Given the description of an element on the screen output the (x, y) to click on. 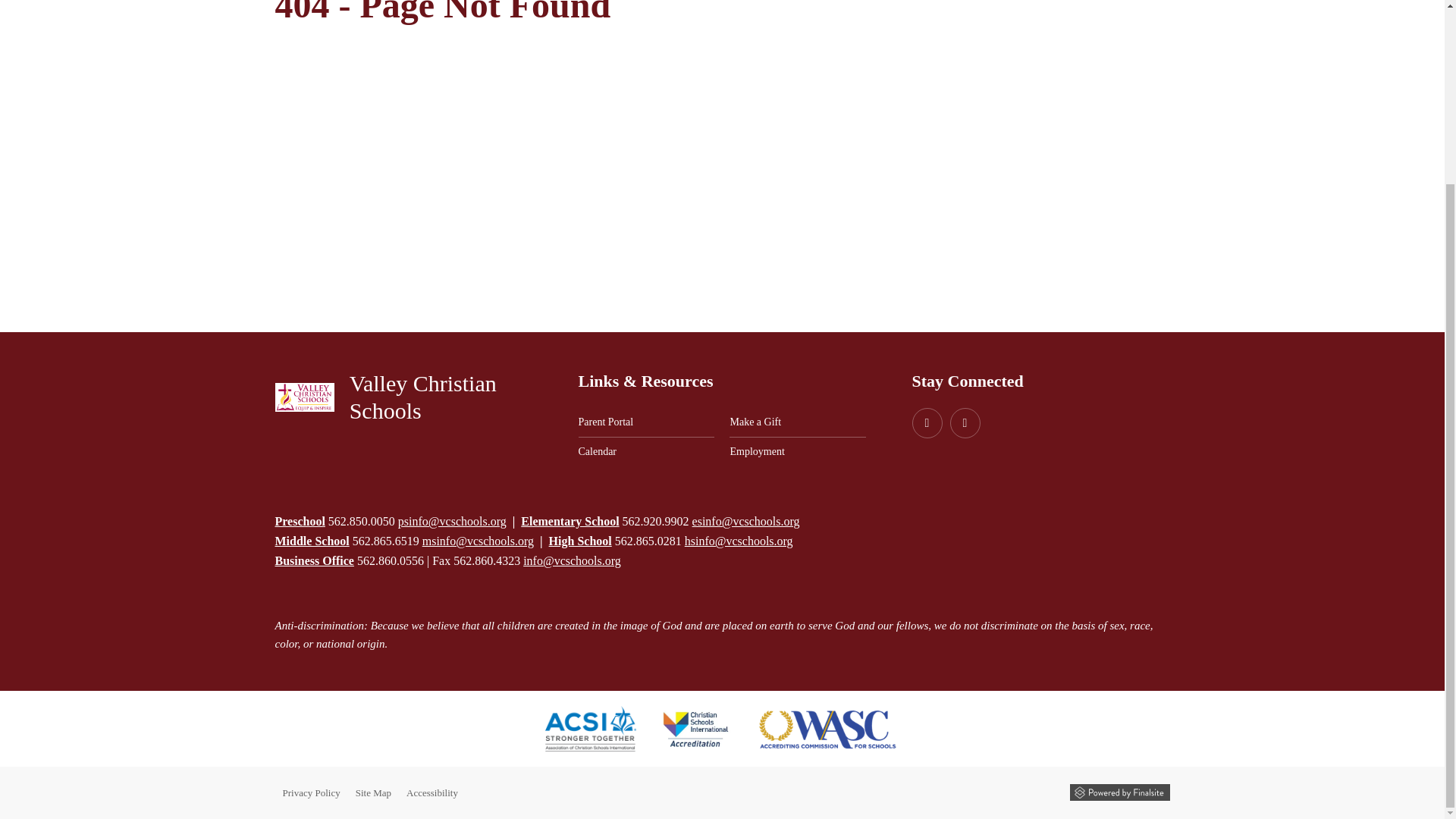
Powered by Finalsite opens in a new window (1118, 791)
